Given the description of an element on the screen output the (x, y) to click on. 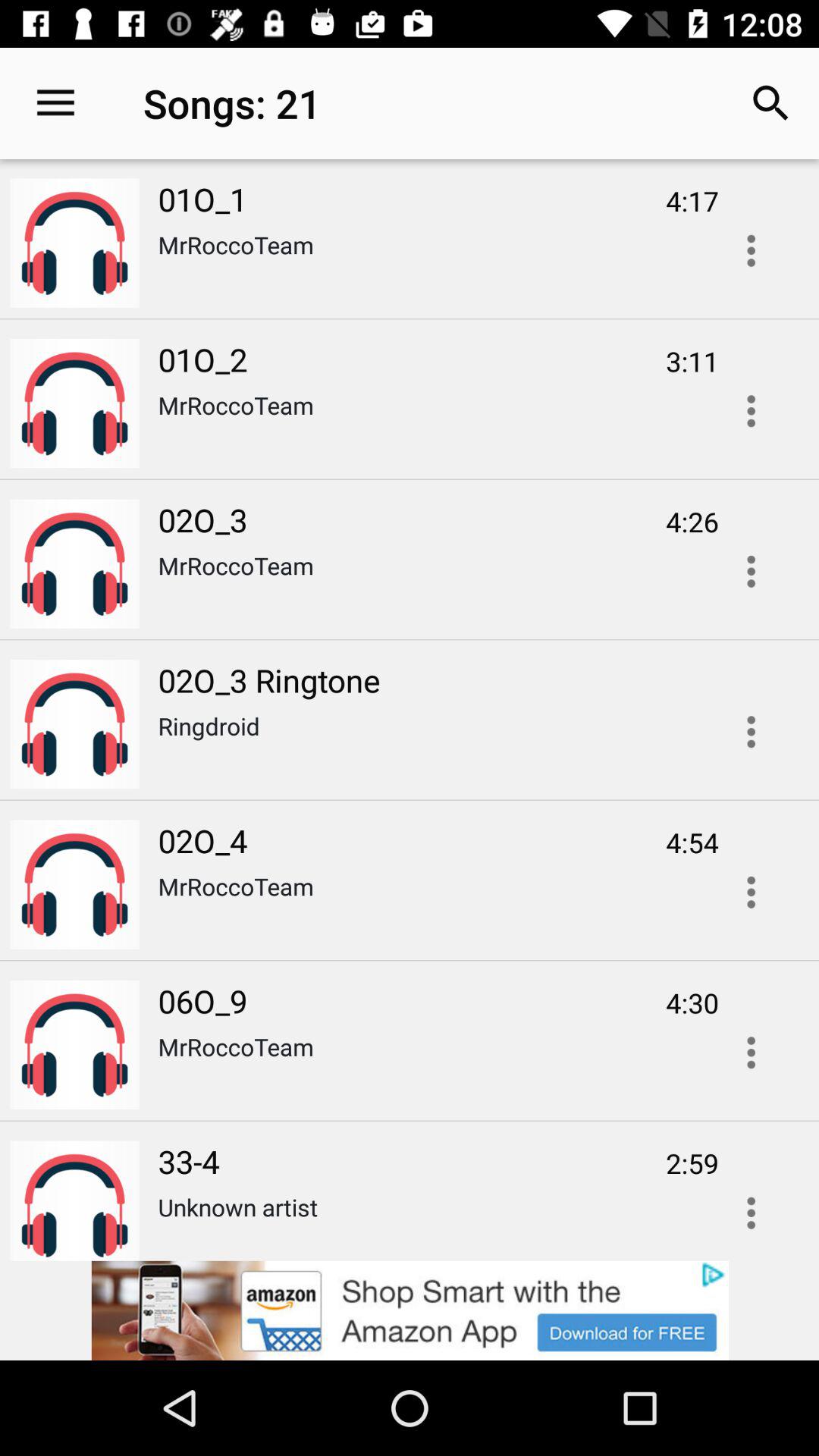
go to overflow menu (750, 410)
